Given the description of an element on the screen output the (x, y) to click on. 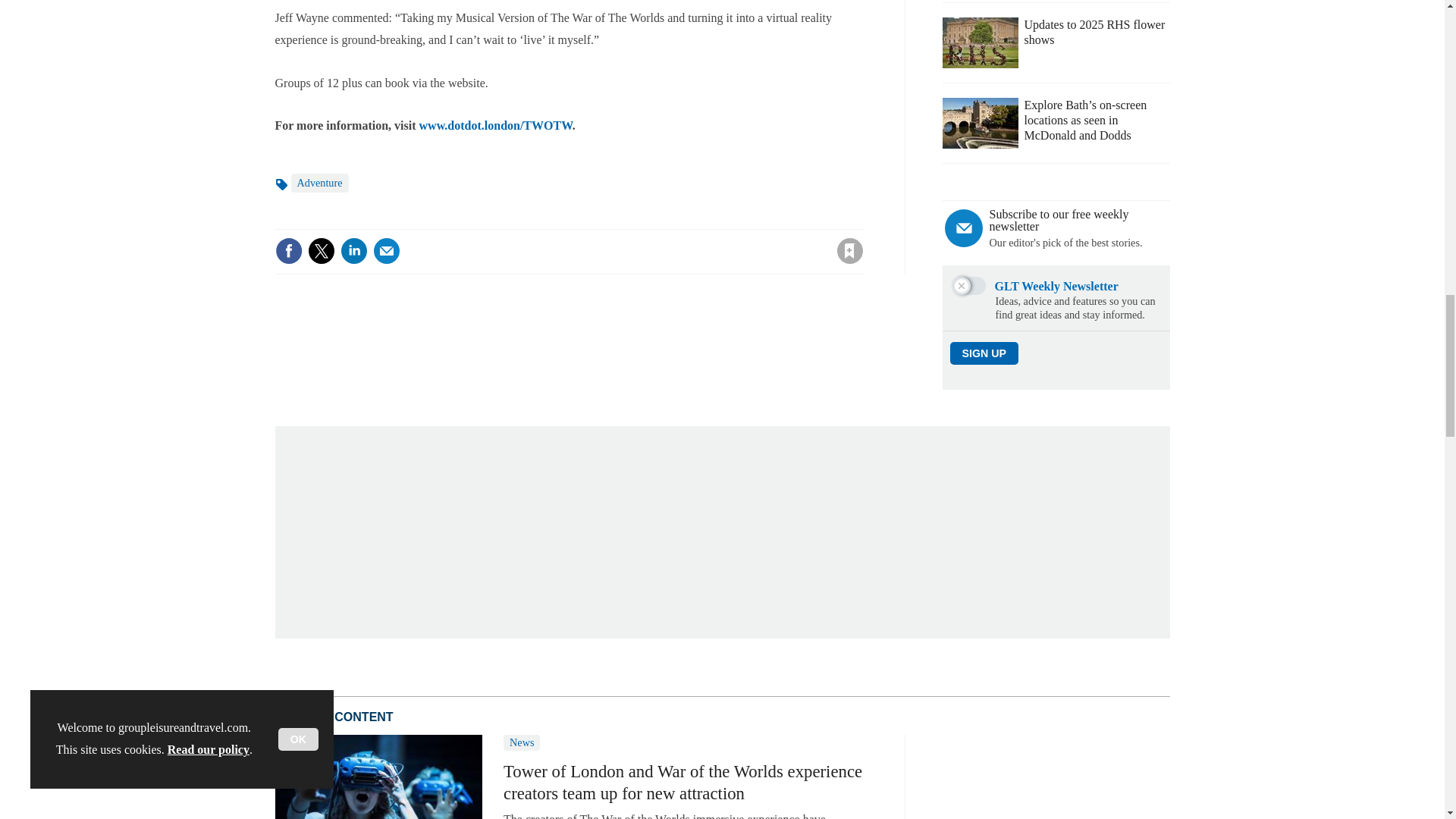
Email this article (386, 250)
Share this on LinkedIn (352, 250)
Share this on Facebook (288, 250)
